Given the description of an element on the screen output the (x, y) to click on. 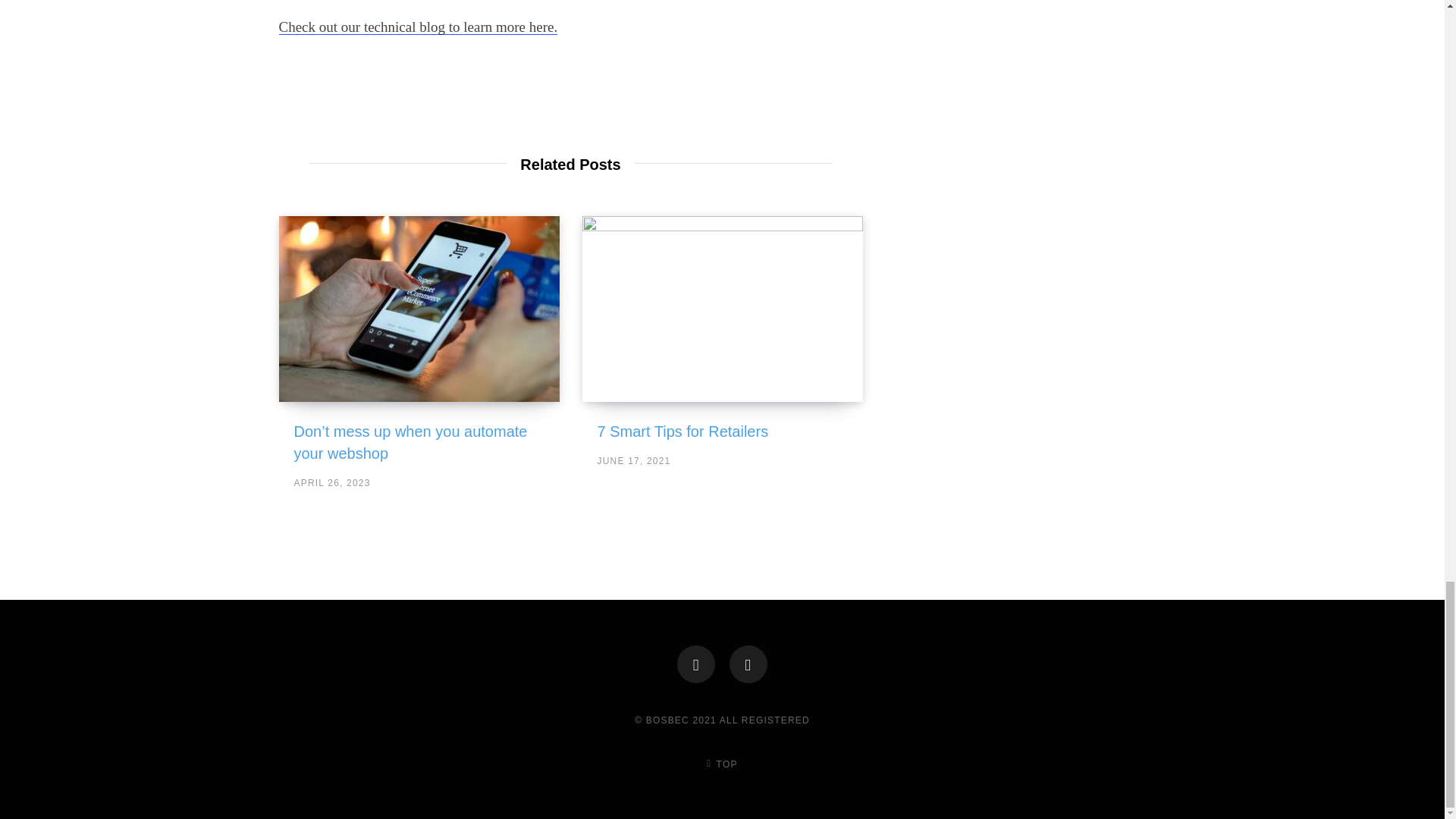
Check out our technical blog to learn more here. (418, 26)
LinkedIn (748, 664)
7 Smart Tips for Retailers (722, 309)
7 Smart Tips for Retailers (682, 431)
Facebook (695, 664)
